Given the description of an element on the screen output the (x, y) to click on. 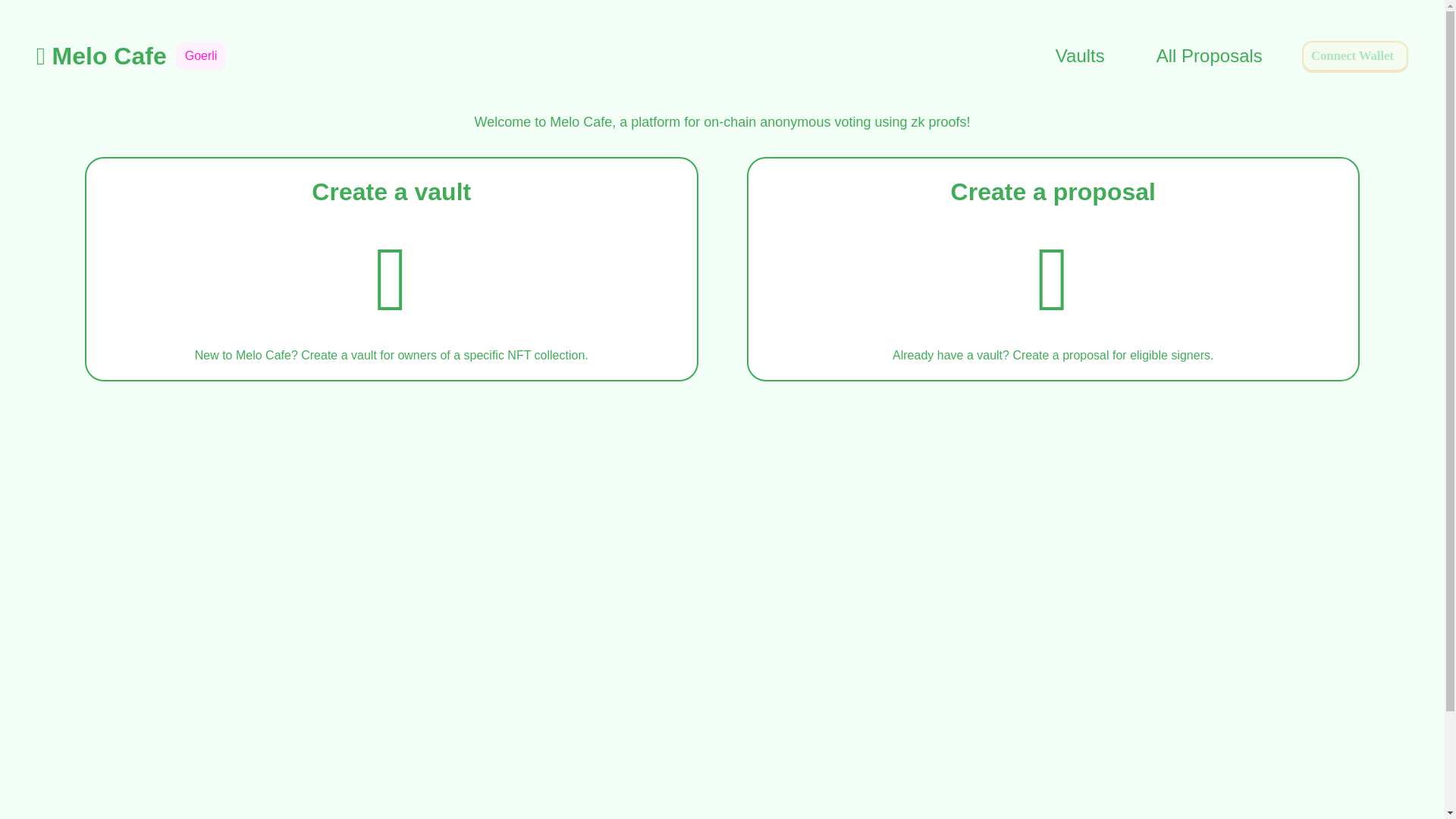
Connect Wallet (1354, 55)
All Proposals (1209, 56)
Vaults (1079, 56)
